Given the description of an element on the screen output the (x, y) to click on. 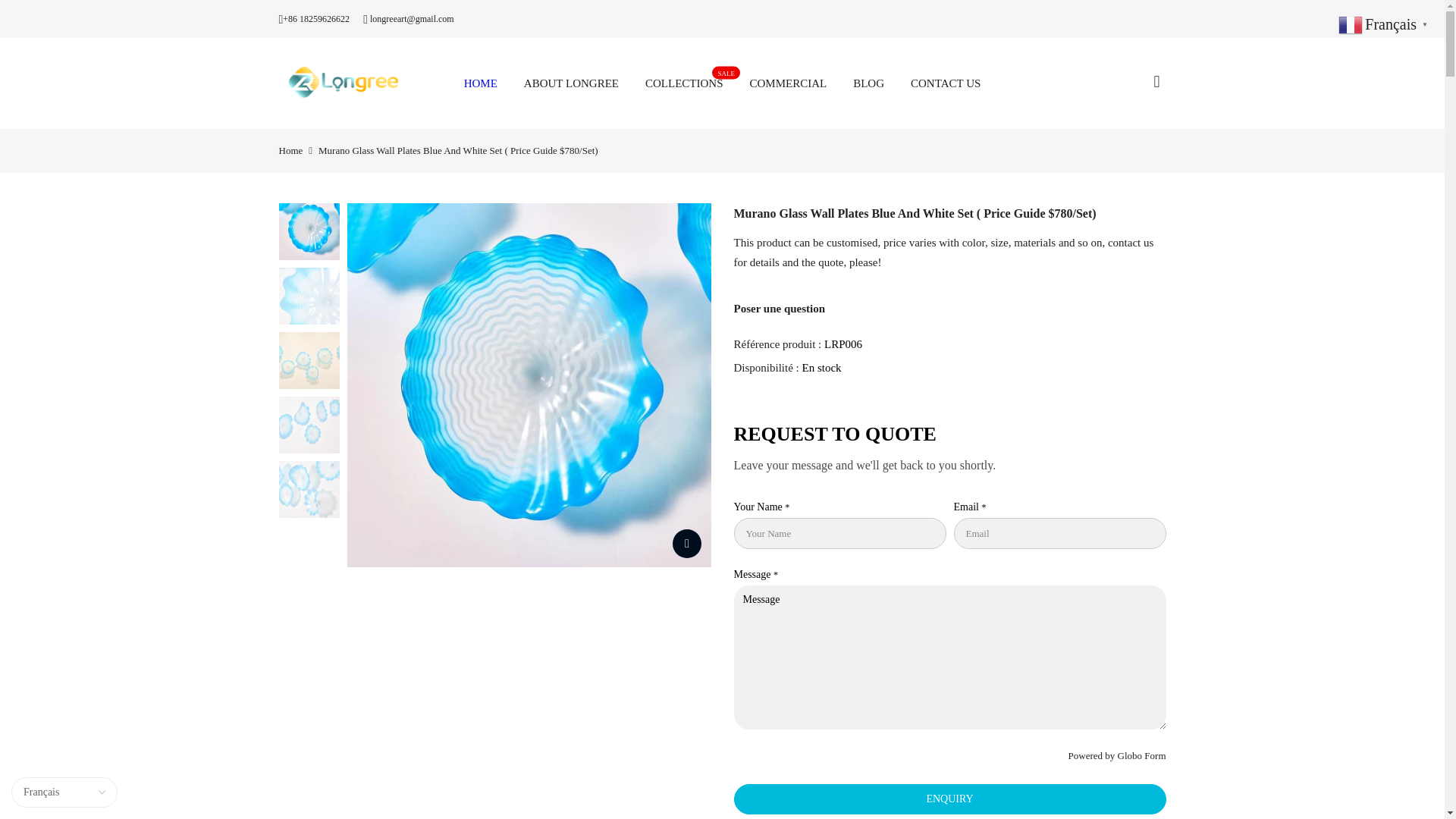
COMMERCIAL (788, 82)
Globo (1130, 755)
ENQUIRY (949, 798)
GLASS WALL PLATES (563, 597)
OUTDOOR LIGHTINGS (683, 82)
Home (566, 571)
ARCHITECTURAL LIGHTINGS (290, 150)
CONTACT US (584, 544)
Form (946, 82)
CASCADING CHANDELIERS (1155, 755)
DECORATIVE LIGHTINGS (579, 517)
Poser une question (574, 491)
ABOUT LONGREE (779, 308)
